Given the description of an element on the screen output the (x, y) to click on. 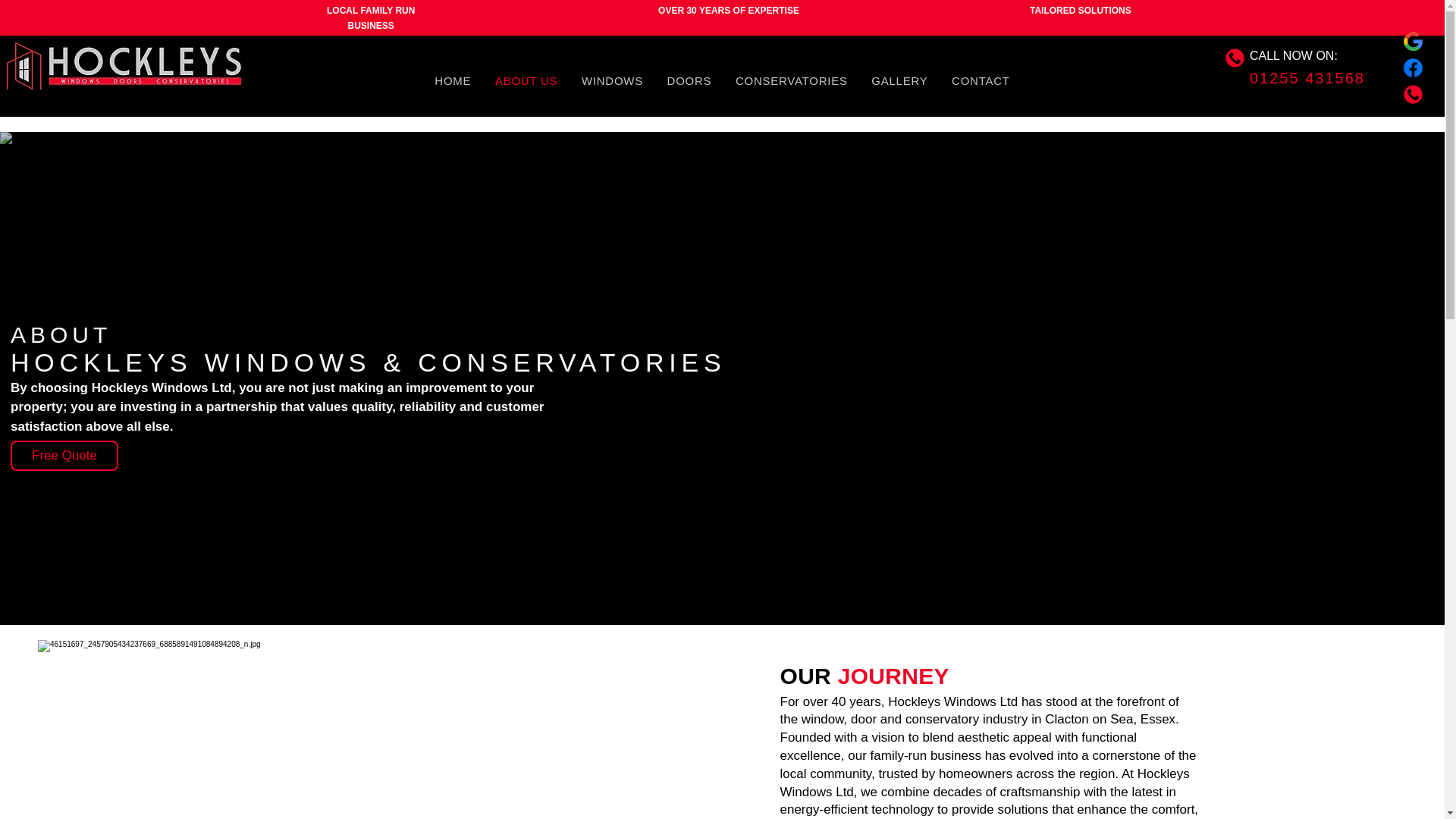
CONTACT (979, 80)
ABOUT US (526, 80)
GALLERY (898, 80)
CONSERVATORIES (791, 80)
WINDOWS (612, 80)
01255 431568 (1307, 72)
Free Quote (63, 455)
DOORS (689, 80)
HOME (722, 80)
